Given the description of an element on the screen output the (x, y) to click on. 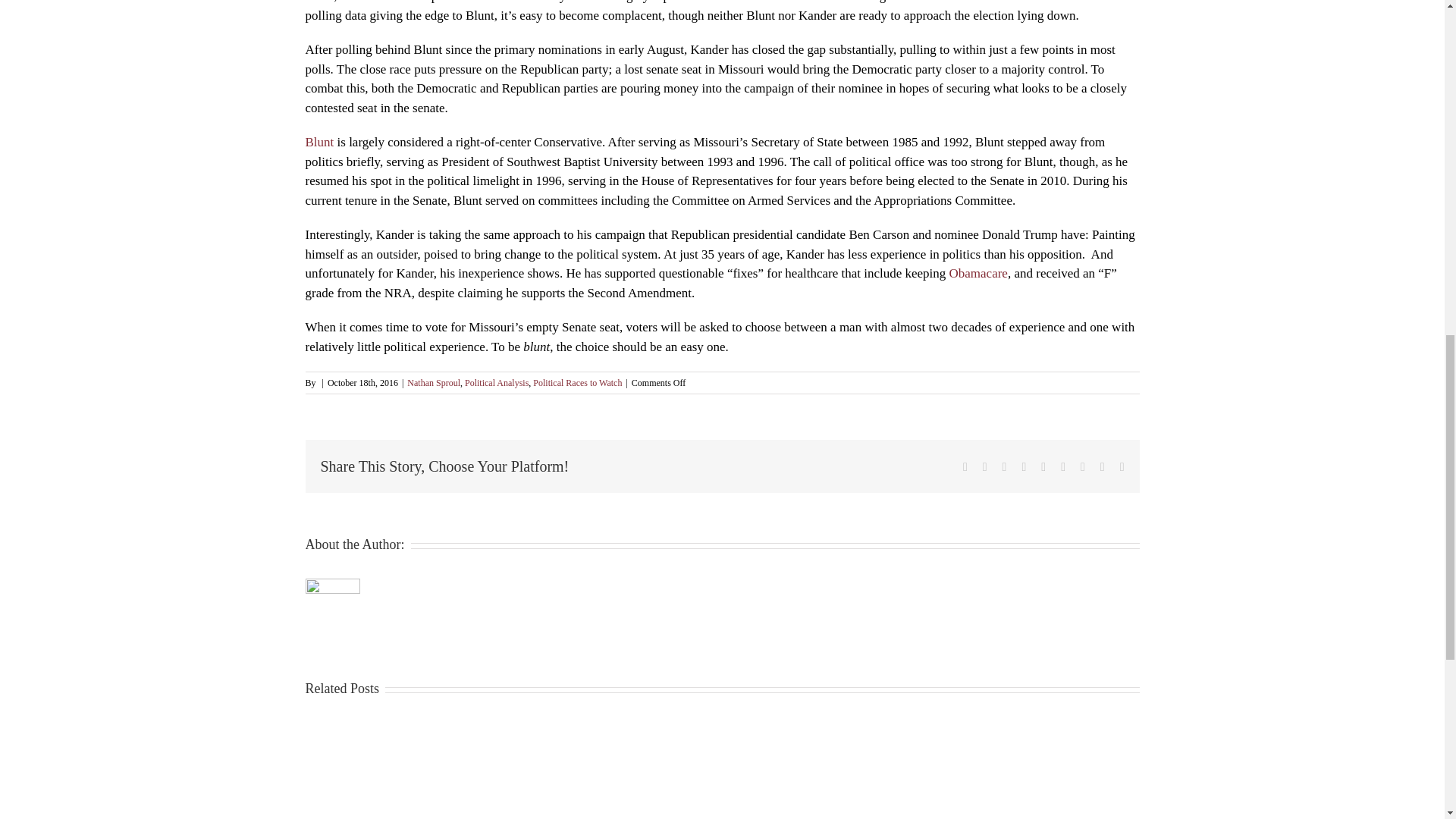
Obamacare (978, 273)
Political Analysis (496, 382)
Blunt (318, 142)
Political Races to Watch (576, 382)
Nathan Sproul (433, 382)
Real Clear Politics (950, 1)
